Given the description of an element on the screen output the (x, y) to click on. 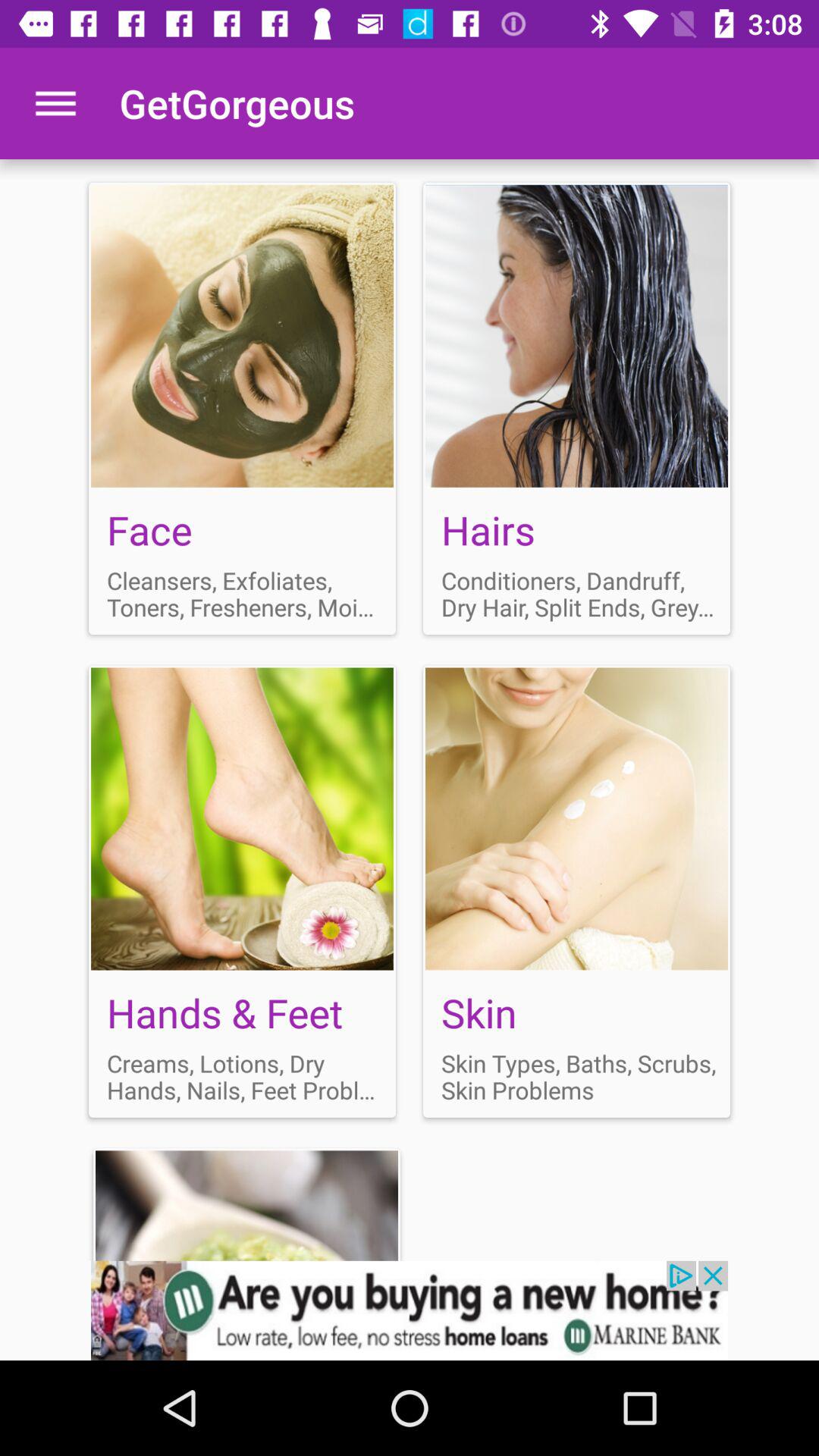
hair products (576, 408)
